Given the description of an element on the screen output the (x, y) to click on. 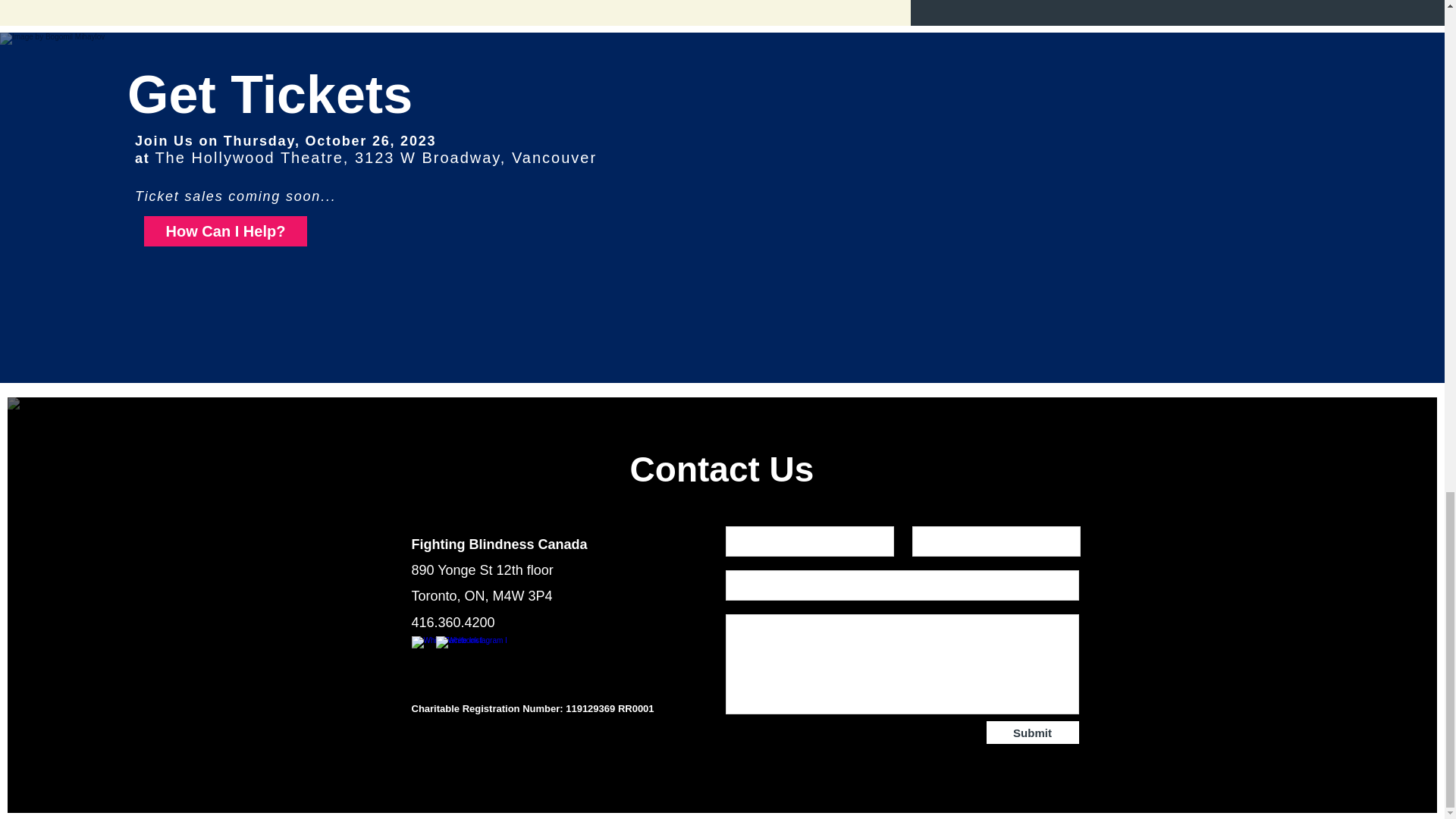
Fighting Blindness Canada (498, 544)
Submit (1031, 732)
How Can I Help? (225, 230)
